Given the description of an element on the screen output the (x, y) to click on. 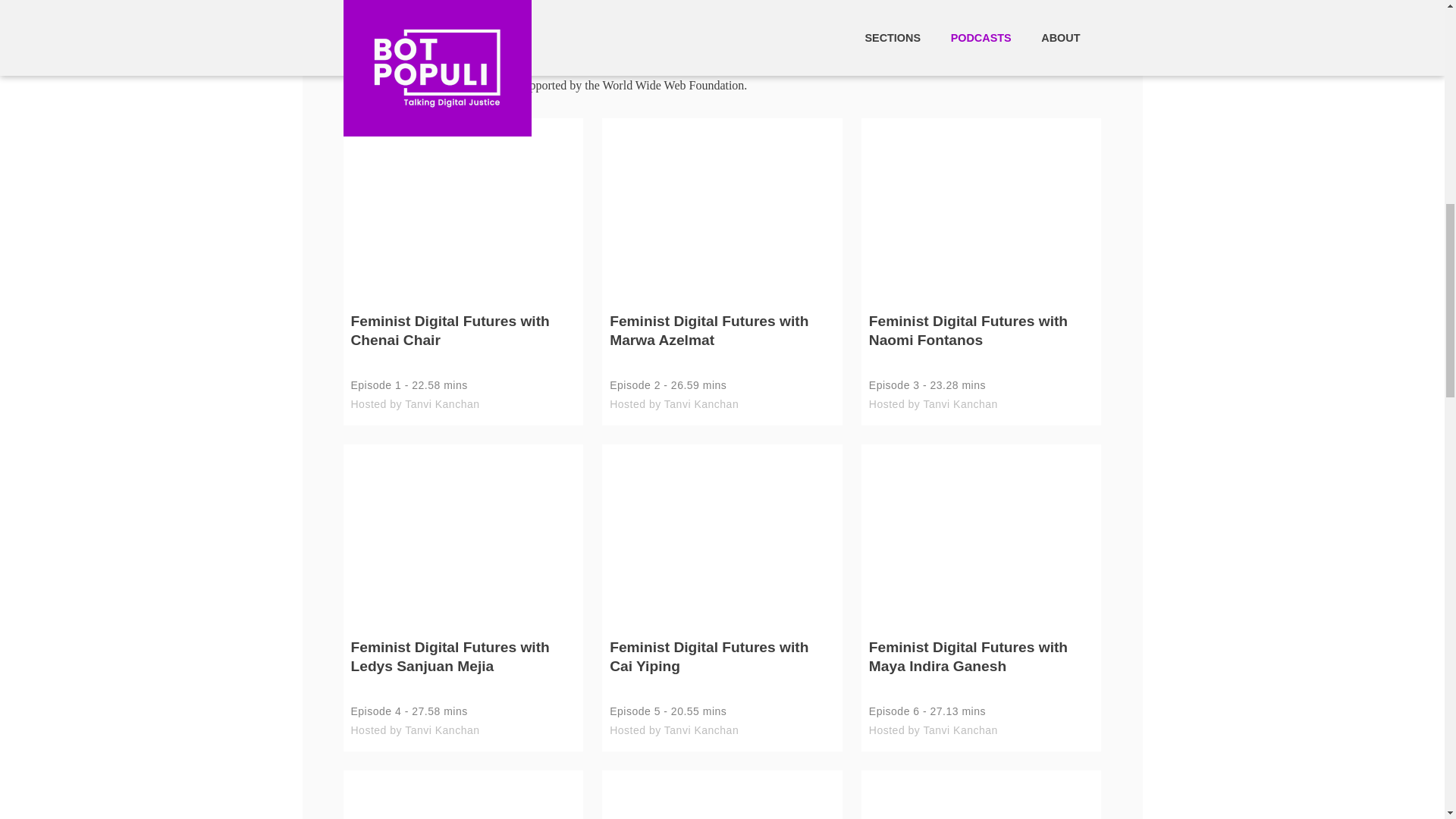
Feminist Digital Futures with Chenai Chair (462, 342)
Feminist Digital Futures with Cai Yiping (722, 668)
Feminist Digital Futures with Maya Indira Ganesh (981, 668)
Feminist Digital Futures with Marwa Azelmat (722, 342)
Feminist Digital Futures with Ledys Sanjuan Mejia (462, 668)
Feminist Digital Futures with Naomi Fontanos (981, 342)
